Given the description of an element on the screen output the (x, y) to click on. 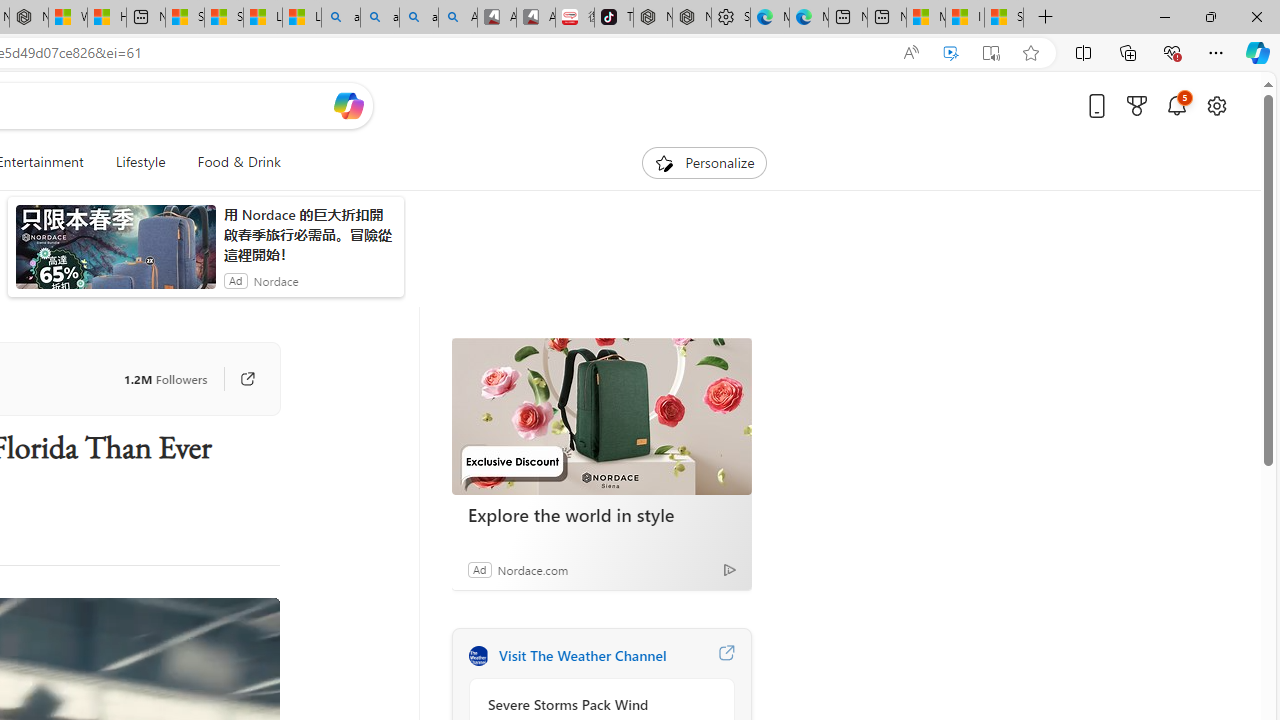
All Cubot phones (536, 17)
Amazon Echo Robot - Search Images (458, 17)
Lifestyle (140, 162)
Wildlife - MSN (67, 17)
Huge shark washes ashore at New York City beach | Watch (106, 17)
Personalize (703, 162)
